Given the description of an element on the screen output the (x, y) to click on. 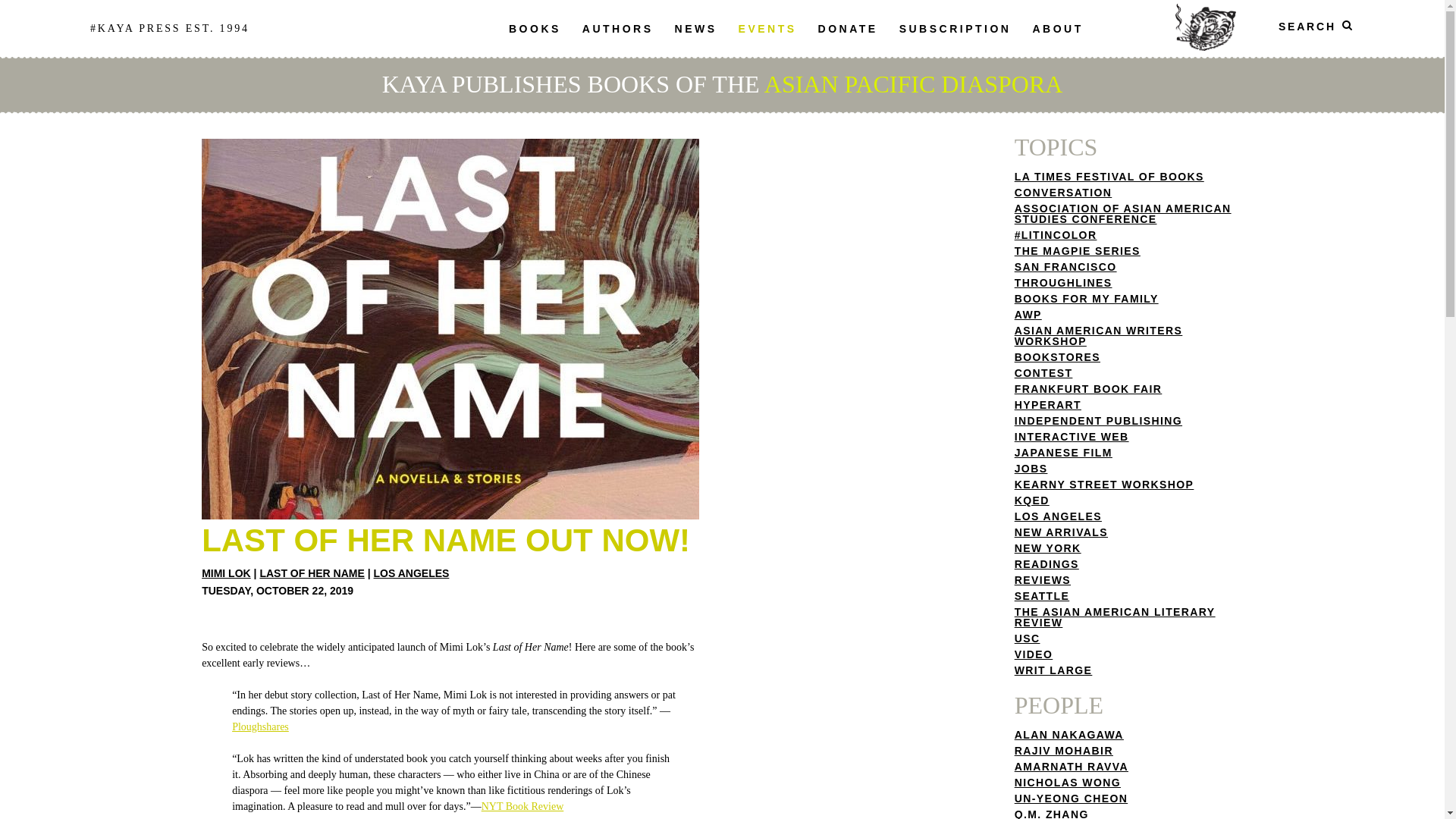
Permalink to Last of Her Name Out Now! (450, 327)
ABOUT (1057, 28)
SUBSCRIPTION (955, 28)
EVENTS (767, 28)
DONATE (847, 28)
NEWS (696, 28)
SEARCH (1307, 26)
search (1307, 26)
Permalink to Last of Her Name Out Now! (446, 539)
BOOKS (534, 28)
AUTHORS (617, 28)
